Given the description of an element on the screen output the (x, y) to click on. 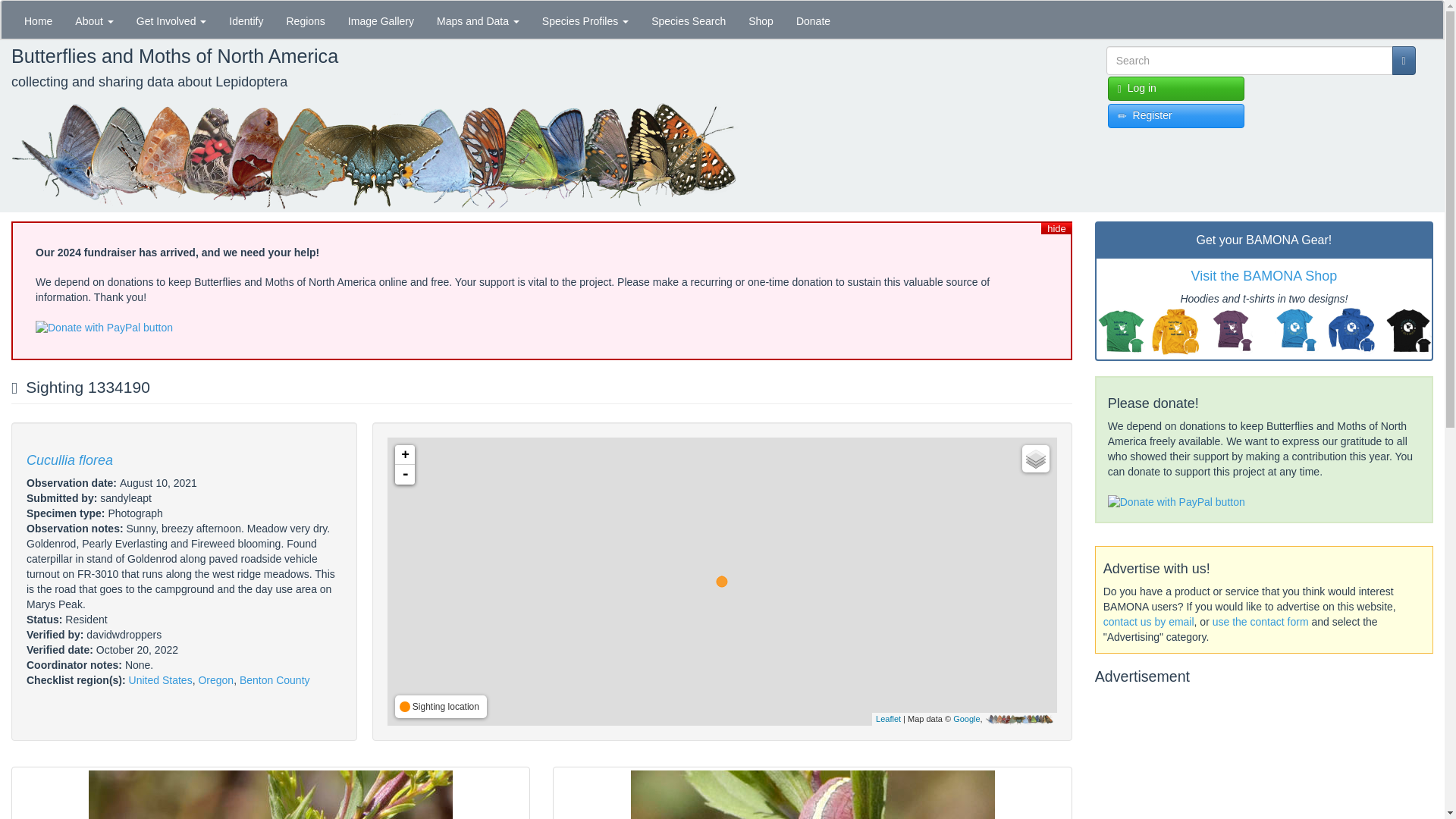
Regions (305, 19)
Species Profiles (585, 19)
  Log in (1176, 88)
Home (38, 19)
Maps and Data (478, 19)
Image Gallery (380, 19)
Get Involved (171, 19)
Identify (245, 19)
  Register (1176, 115)
Search (1115, 81)
Donate (812, 19)
Species Search (688, 19)
Shop (760, 19)
About (93, 19)
